Given the description of an element on the screen output the (x, y) to click on. 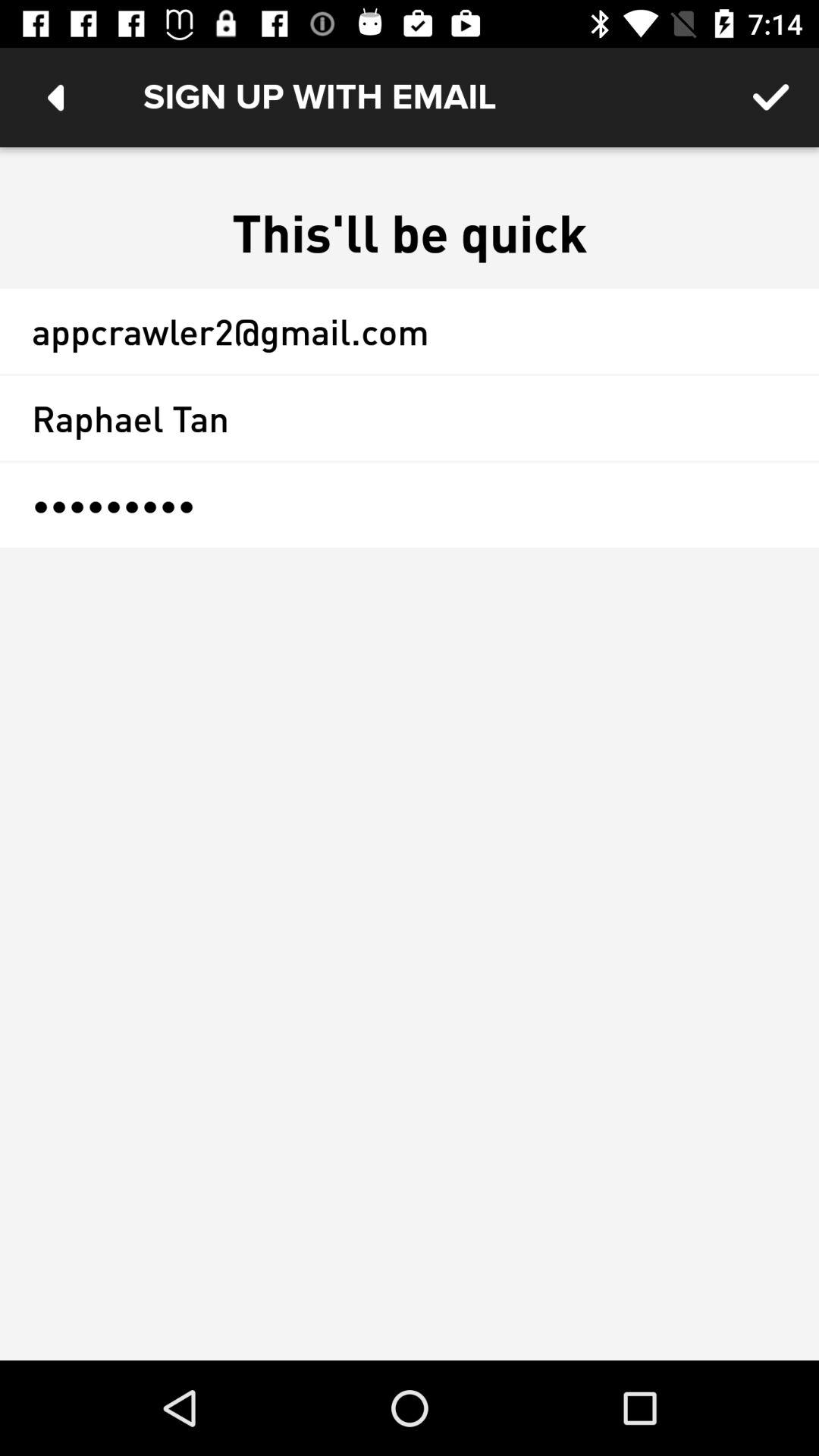
turn on crowd3116 (409, 504)
